Given the description of an element on the screen output the (x, y) to click on. 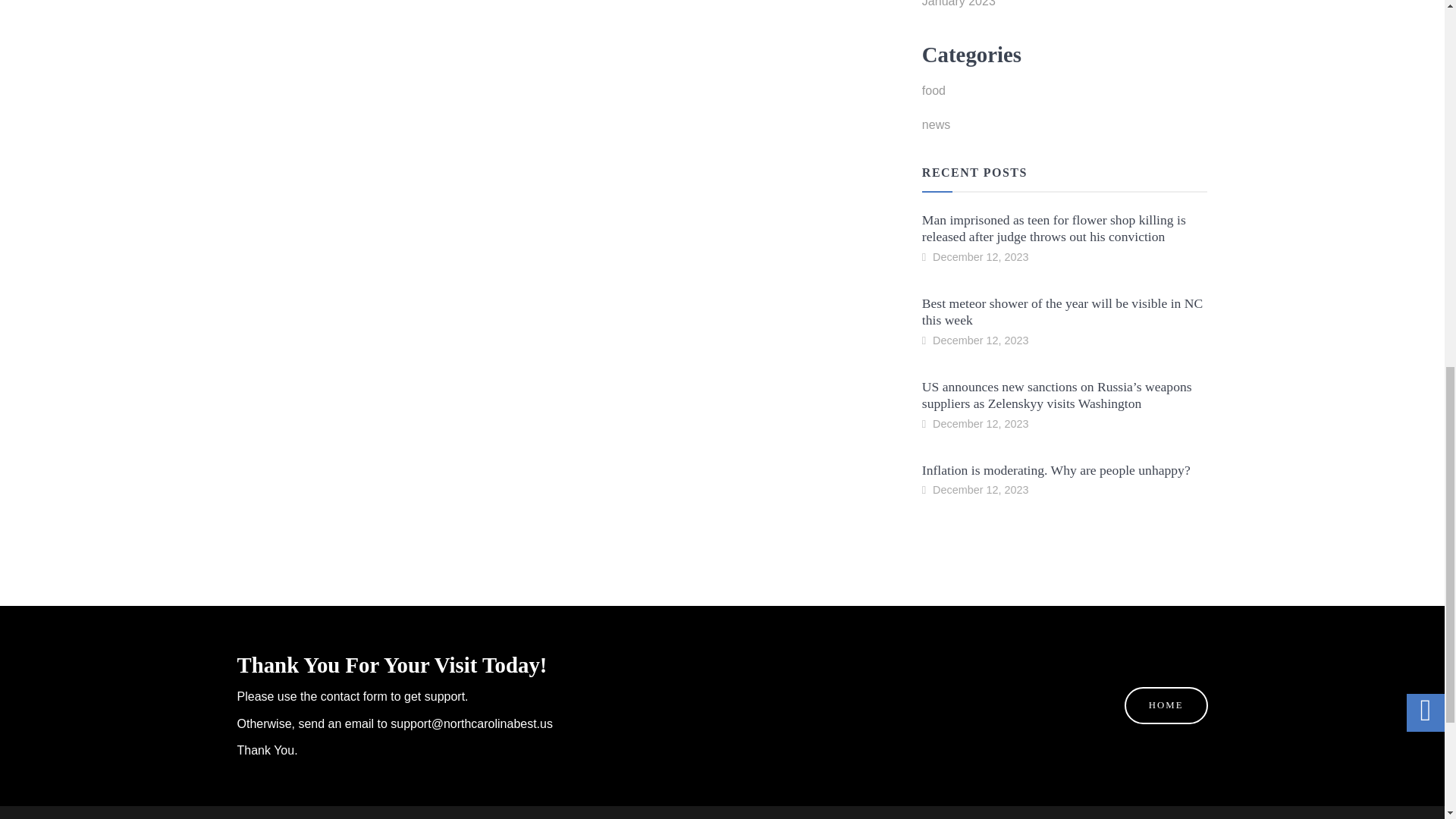
food (1064, 94)
news (1064, 128)
January 2023 (1064, 9)
Inflation is moderating. Why are people unhappy? (1056, 469)
HOME (1166, 705)
